Given the description of an element on the screen output the (x, y) to click on. 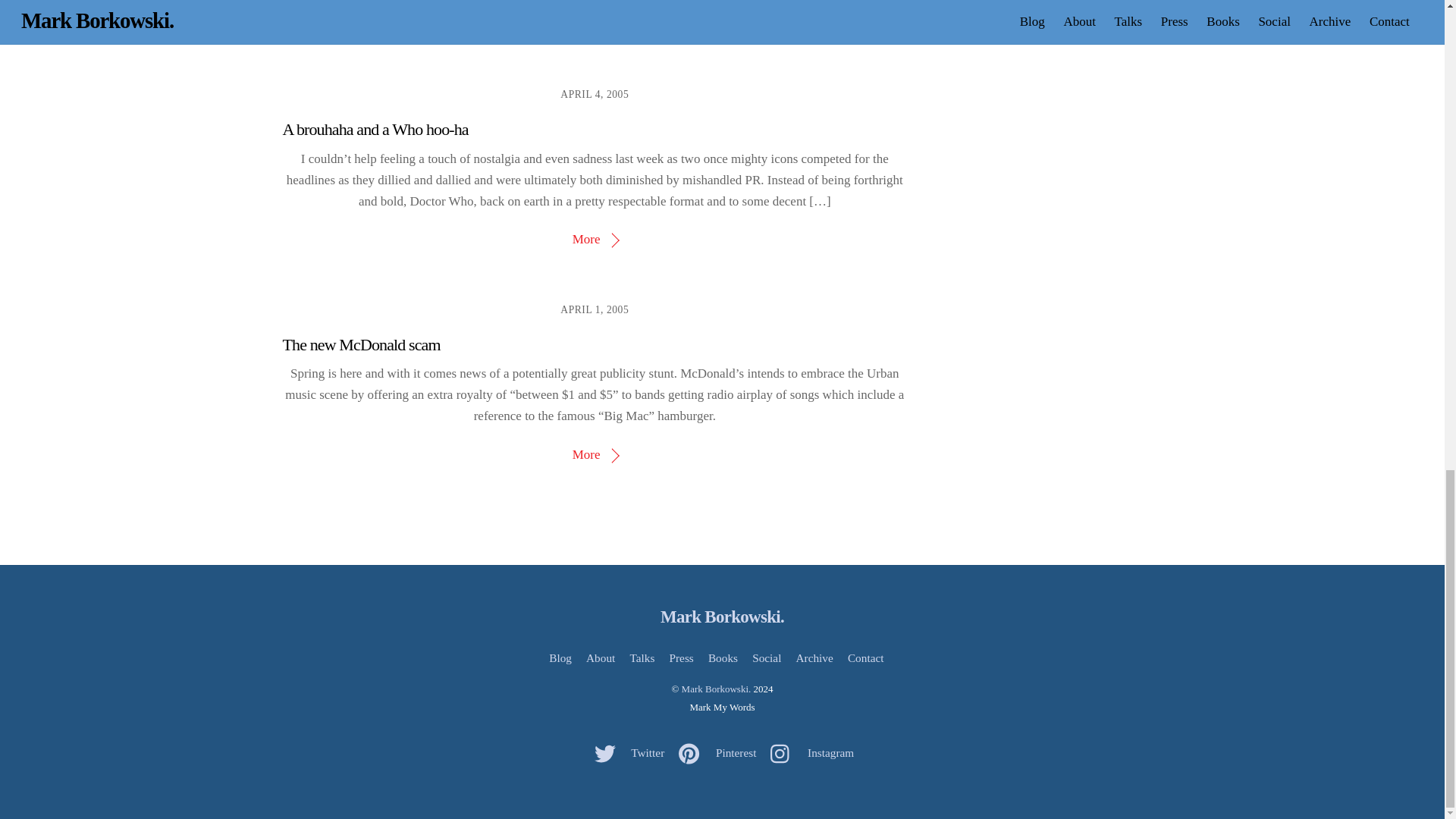
More (594, 454)
More (594, 238)
More (594, 24)
A brouhaha and a Who hoo-ha (374, 128)
The new McDonald scam (360, 343)
Mark Borkowski. (722, 616)
